Given the description of an element on the screen output the (x, y) to click on. 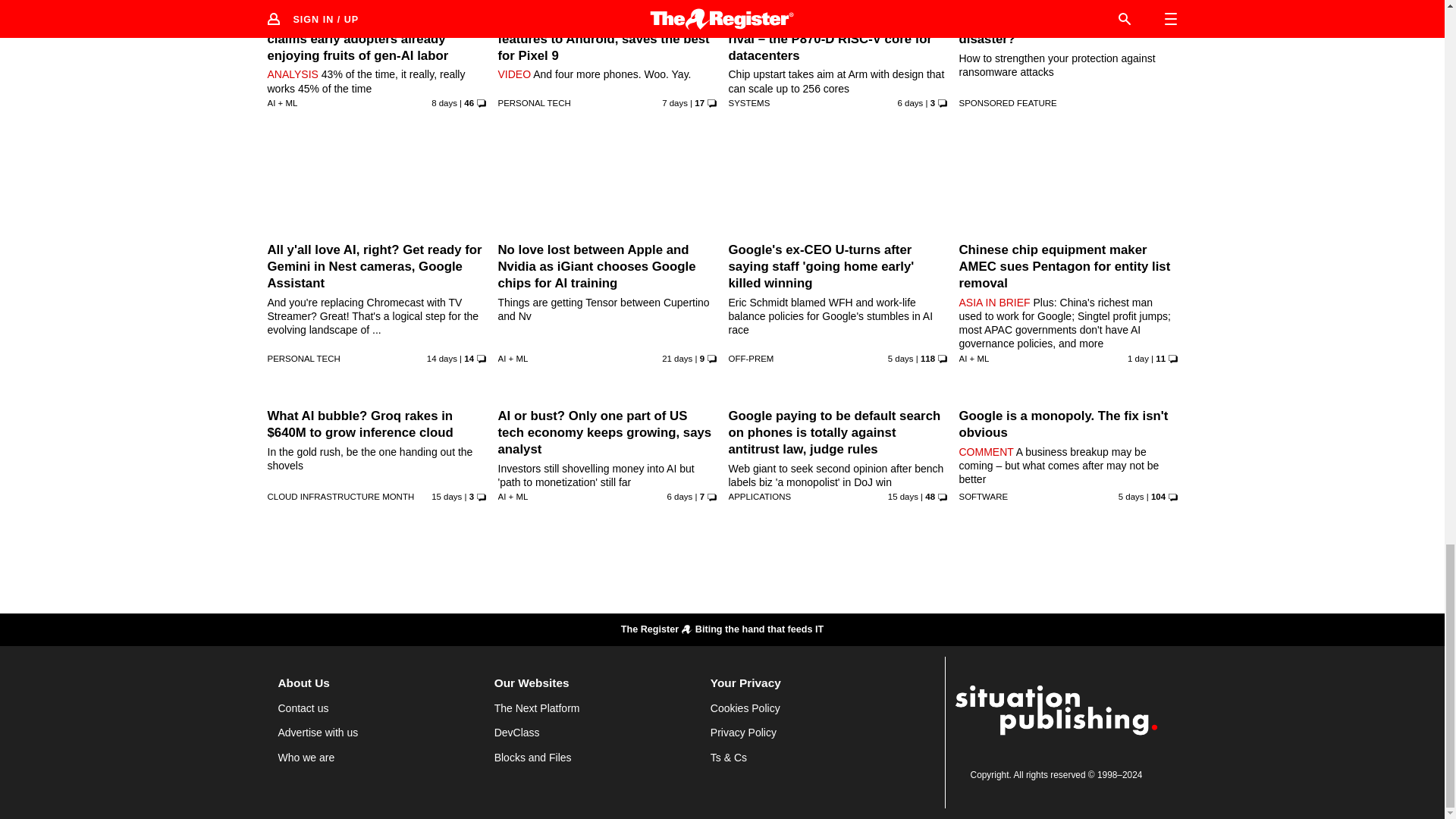
14 Aug 2024 14:25 (910, 102)
12 Aug 2024 12:38 (443, 102)
30 Jul 2024 22:7 (677, 358)
6 Aug 2024 22:13 (441, 358)
19 Aug 2024 3:30 (1137, 358)
13 Aug 2024 22:45 (674, 102)
15 Aug 2024 13:32 (901, 358)
